Given the description of an element on the screen output the (x, y) to click on. 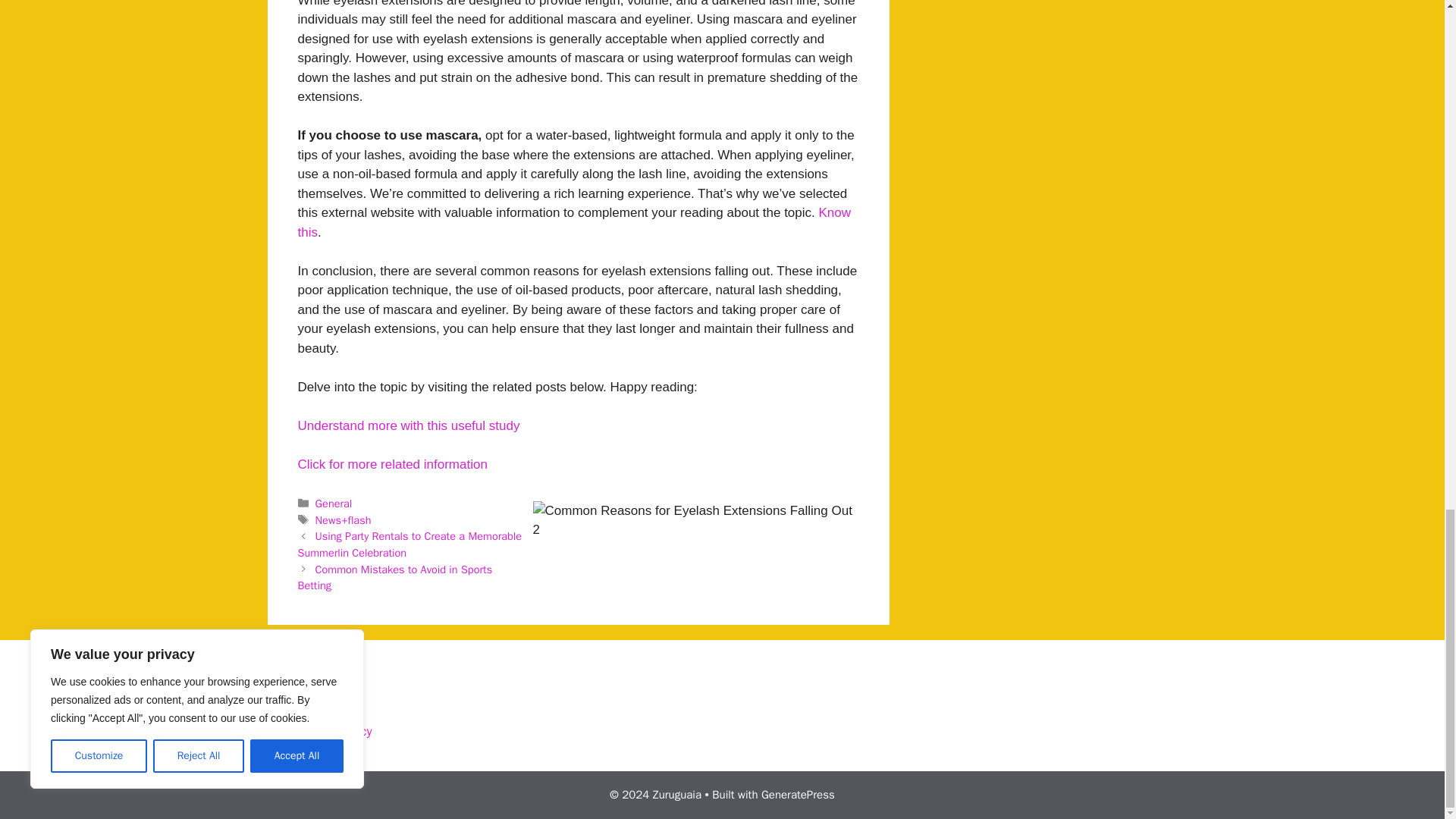
Understand more with this useful study (408, 425)
Know this (573, 222)
Common Mistakes to Avoid in Sports Betting (394, 577)
General (333, 503)
Click for more related information (391, 464)
